Given the description of an element on the screen output the (x, y) to click on. 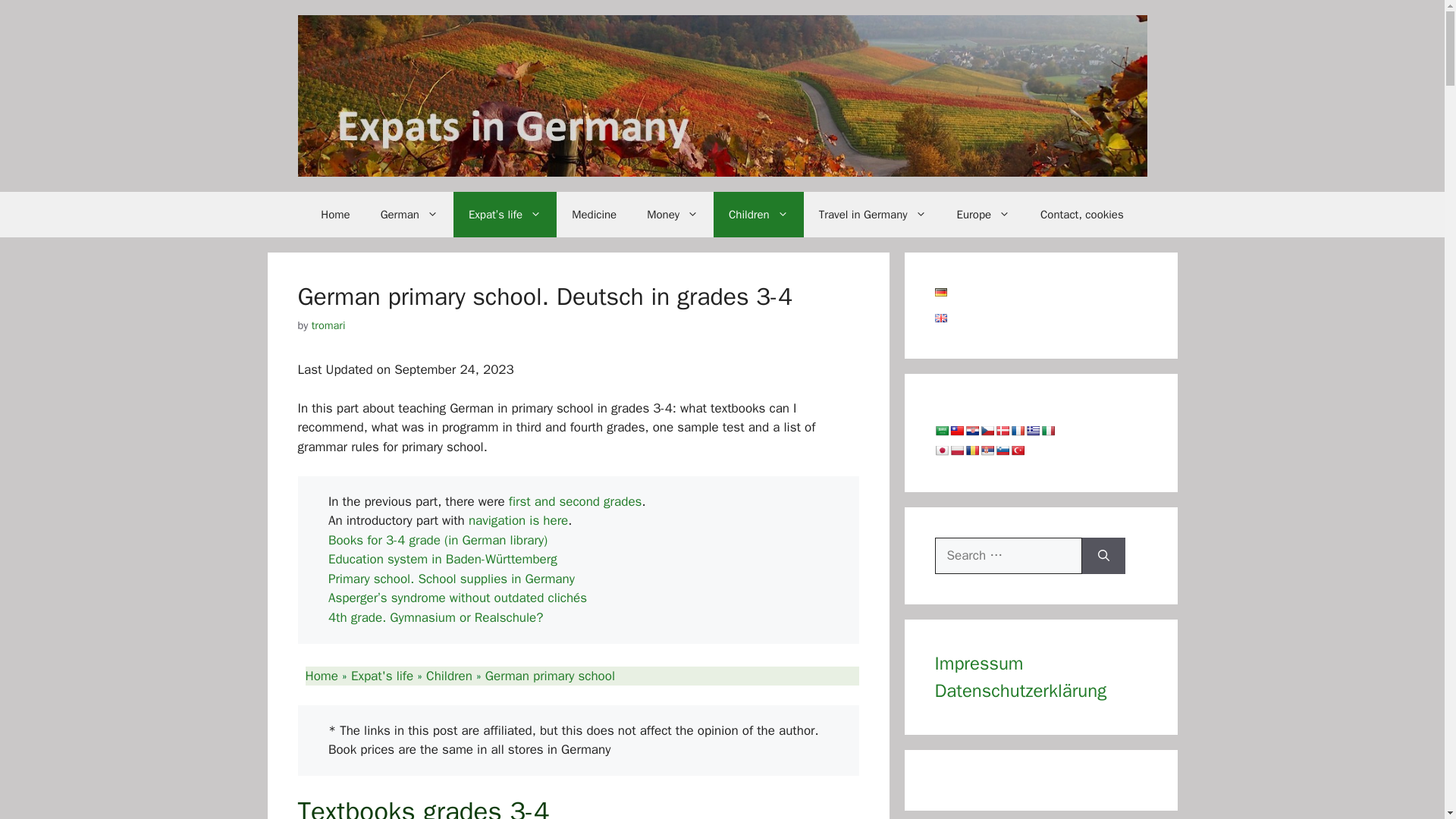
Czech (985, 430)
Croatian (970, 430)
Japanese (940, 450)
Arabic (940, 430)
Slovenian (1001, 450)
Medicine (593, 214)
Money (672, 214)
German (408, 214)
Greek (1032, 430)
Italian (1047, 430)
